Given the description of an element on the screen output the (x, y) to click on. 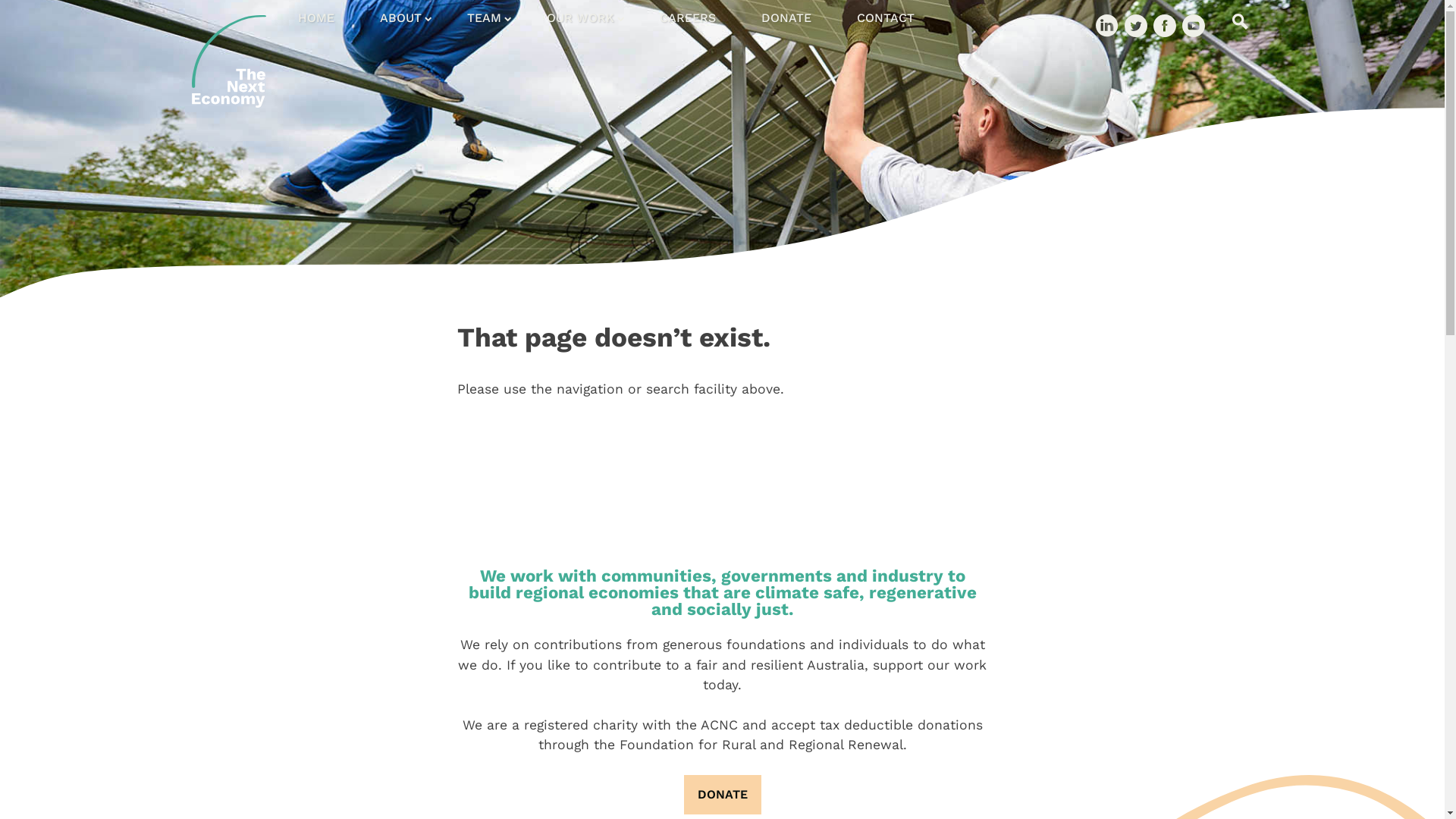
CONTACT Element type: text (880, 18)
TEAM Element type: text (479, 18)
OUR WORK Element type: text (574, 18)
DONATE Element type: text (781, 18)
CAREERS Element type: text (682, 18)
DONATE Element type: text (722, 794)
HOME Element type: text (310, 18)
DONATE Element type: text (722, 794)
ABOUT Element type: text (395, 18)
